Given the description of an element on the screen output the (x, y) to click on. 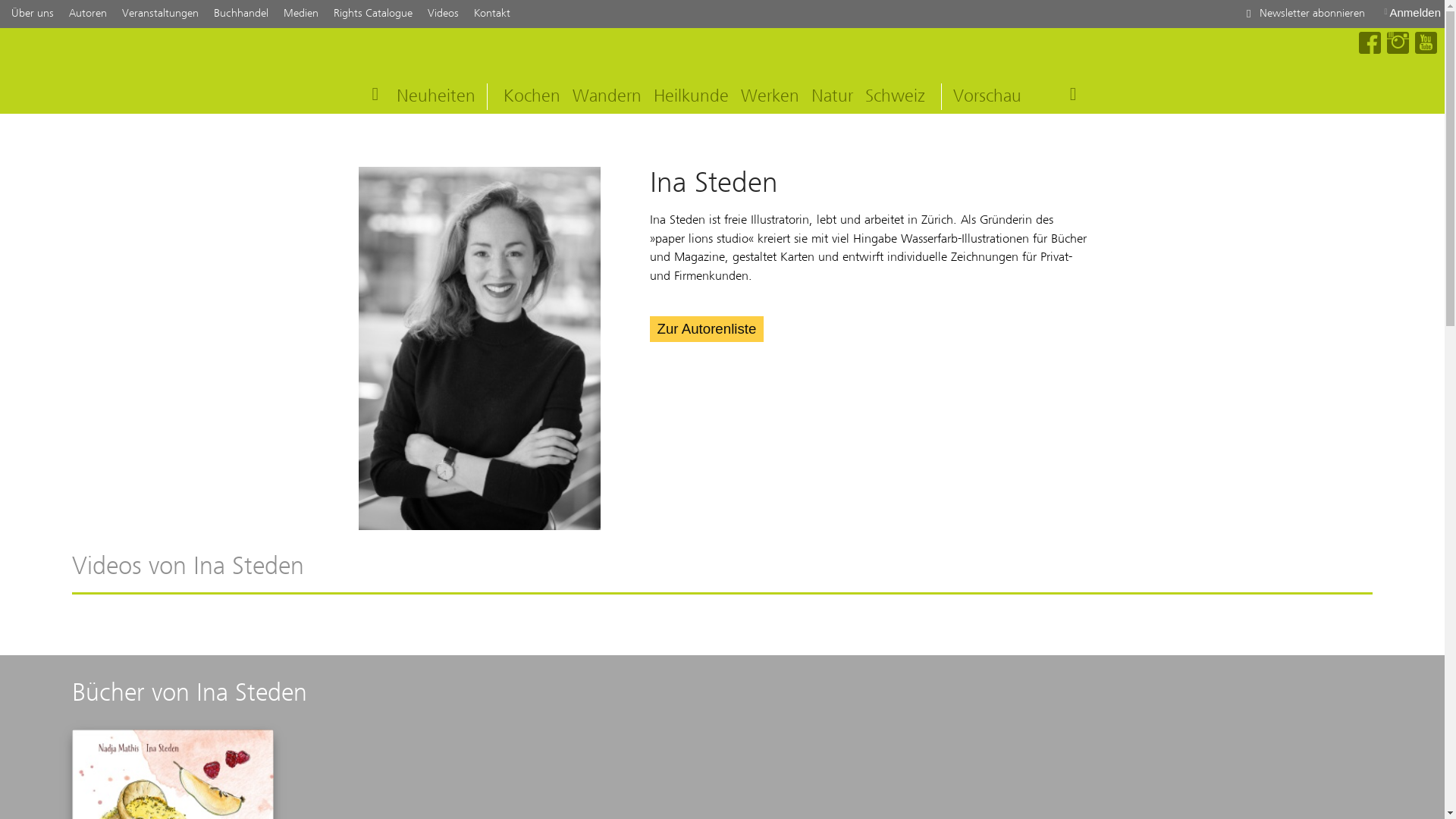
Facebook Element type: hover (1369, 43)
Buchhandel Element type: text (240, 12)
Rights Catalogue Element type: text (372, 12)
Schweiz Element type: text (895, 95)
Natur Element type: text (832, 95)
Neuheiten Element type: text (435, 95)
Instagram Element type: hover (1397, 43)
Kochen Element type: text (531, 95)
Veranstaltungen Element type: text (160, 12)
YouTube Element type: hover (1426, 43)
Videos Element type: text (442, 12)
Heilkunde Element type: text (690, 95)
Newsletter abonnieren Element type: text (1302, 14)
Medien Element type: text (300, 12)
Wandern Element type: text (606, 95)
Vorschau Element type: text (987, 95)
Werken Element type: text (769, 95)
Autoren Element type: text (87, 12)
Anmelden Element type: text (1411, 12)
Kontakt Element type: text (491, 12)
Zur Autorenliste Element type: text (706, 329)
